Given the description of an element on the screen output the (x, y) to click on. 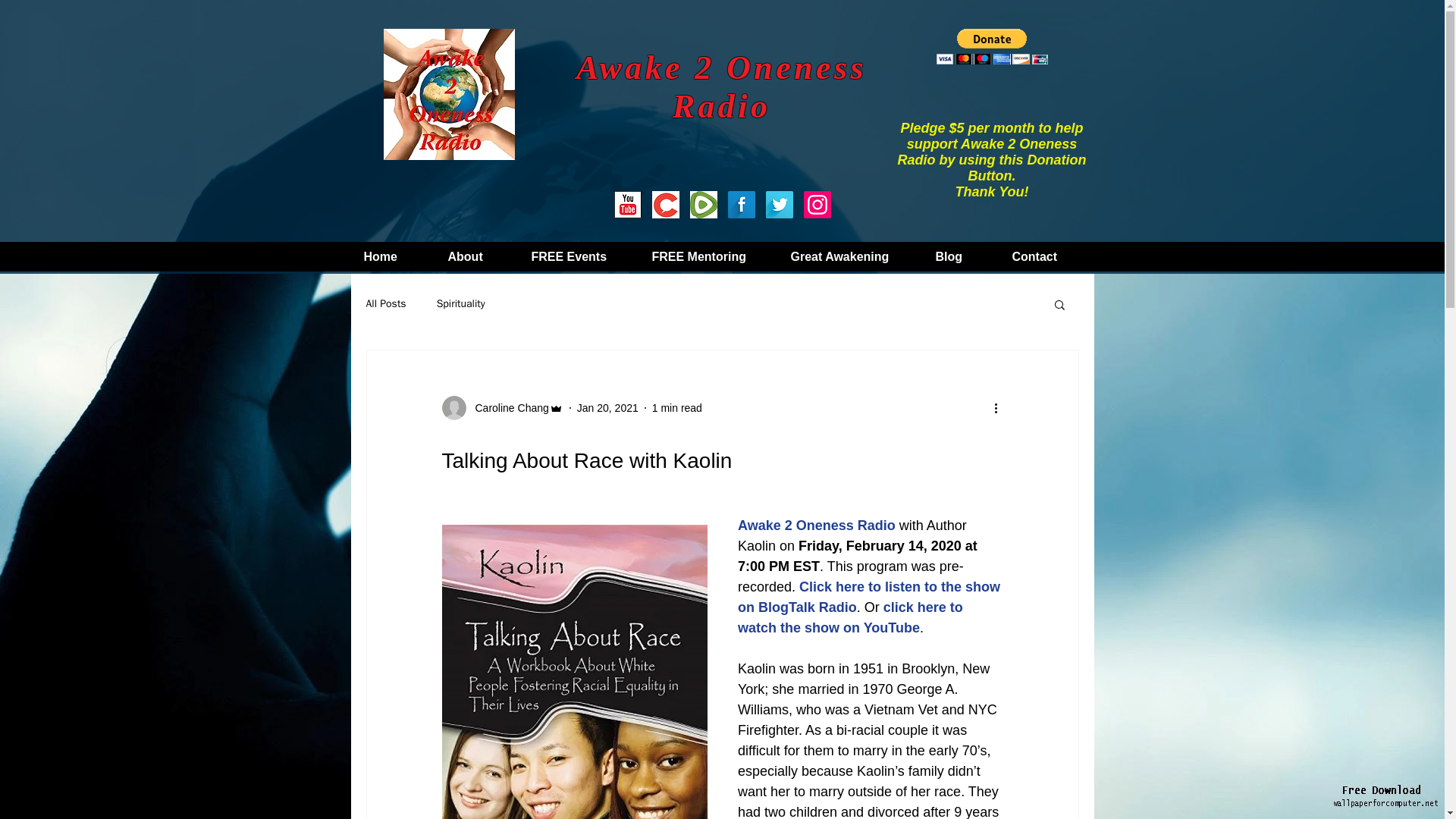
FREE Events (579, 256)
About (477, 256)
FREE Mentoring (709, 256)
Click here to listen to the show on BlogTalk Radio (869, 597)
Caroline Chang (501, 407)
Caroline Chang (506, 408)
All Posts (385, 304)
Jan 20, 2021 (607, 408)
1 min read (676, 408)
Awake 2 Oneness Radio (815, 525)
Contact (1047, 256)
Awake2OnenessLogoSM.jpg (449, 93)
Great Awakening (851, 256)
Spirituality (460, 304)
Blog (961, 256)
